Given the description of an element on the screen output the (x, y) to click on. 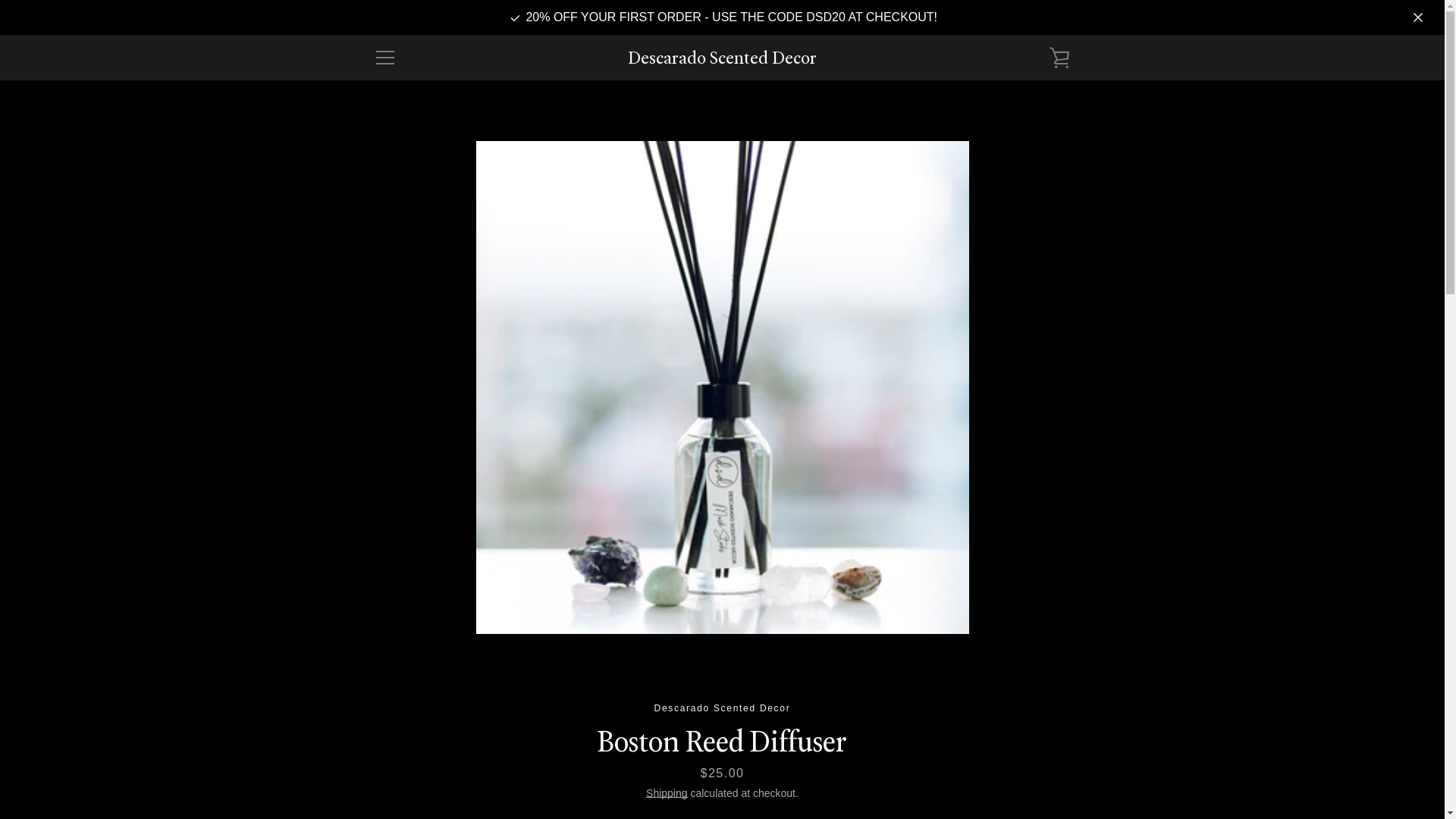
SEARCH Element type: text (394, 652)
Powered by Shopify Element type: text (722, 775)
CONTACT Element type: text (397, 674)
Shipping Element type: text (666, 793)
SUBSCRIBE Element type: text (1029, 673)
MENU Element type: text (384, 57)
Skip to content Element type: text (0, 0)
Descarado Scented Decor Element type: text (721, 58)
DELIVERIES & RETURNS Element type: text (435, 696)
Descarado Scented Decor Element type: text (760, 756)
VIEW CART Element type: text (1059, 57)
Facebook Element type: text (372, 765)
Instagram Element type: text (399, 765)
